Given the description of an element on the screen output the (x, y) to click on. 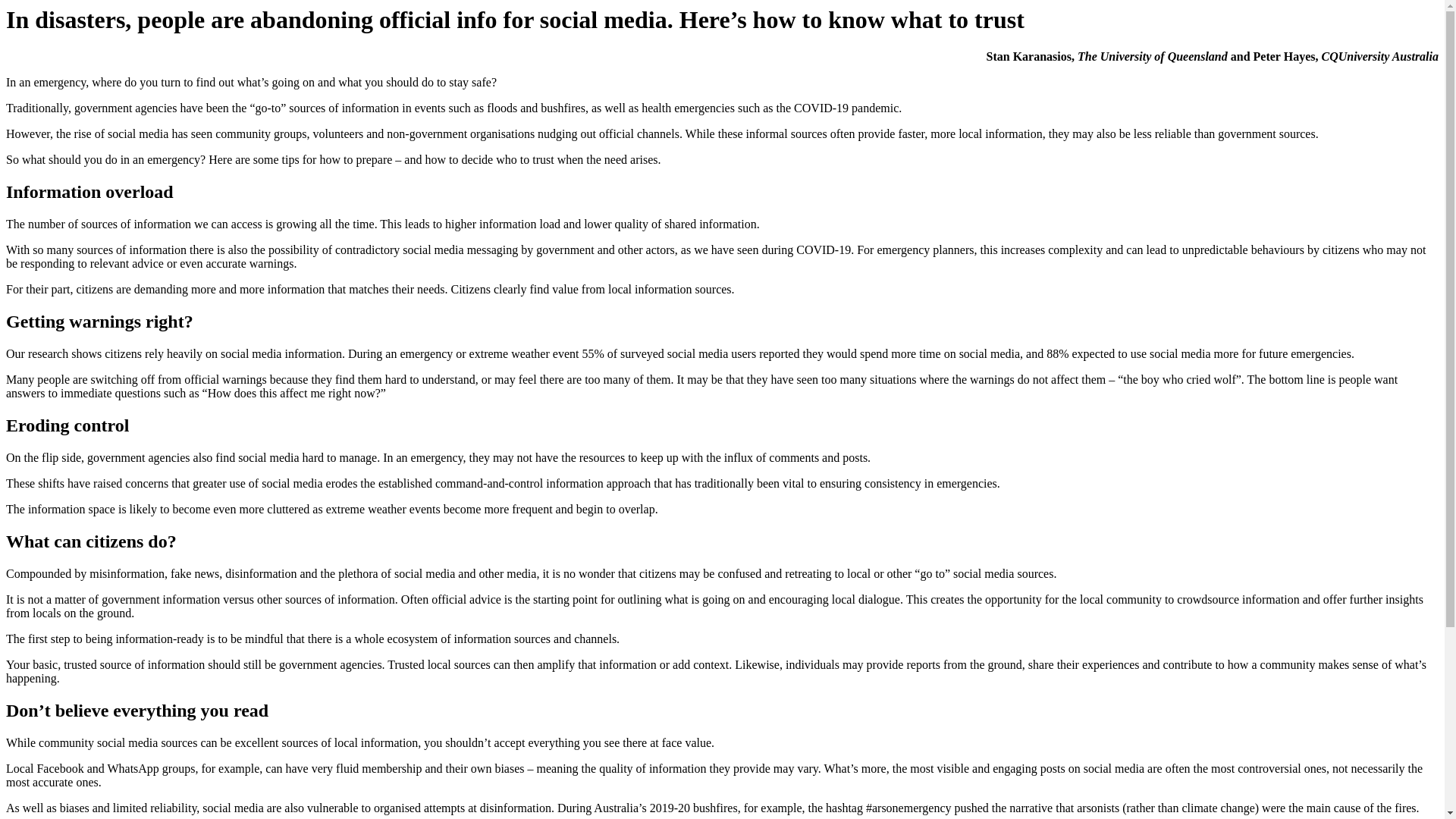
rely heavily on social media information (243, 353)
The University of Queensland (1152, 56)
lower quality of shared information (670, 223)
find value (553, 288)
On the flip side (43, 457)
Stan Karanasios (1029, 56)
raised concerns (130, 482)
Peter Hayes (1284, 56)
CQUniversity Australia (1379, 56)
